Given the description of an element on the screen output the (x, y) to click on. 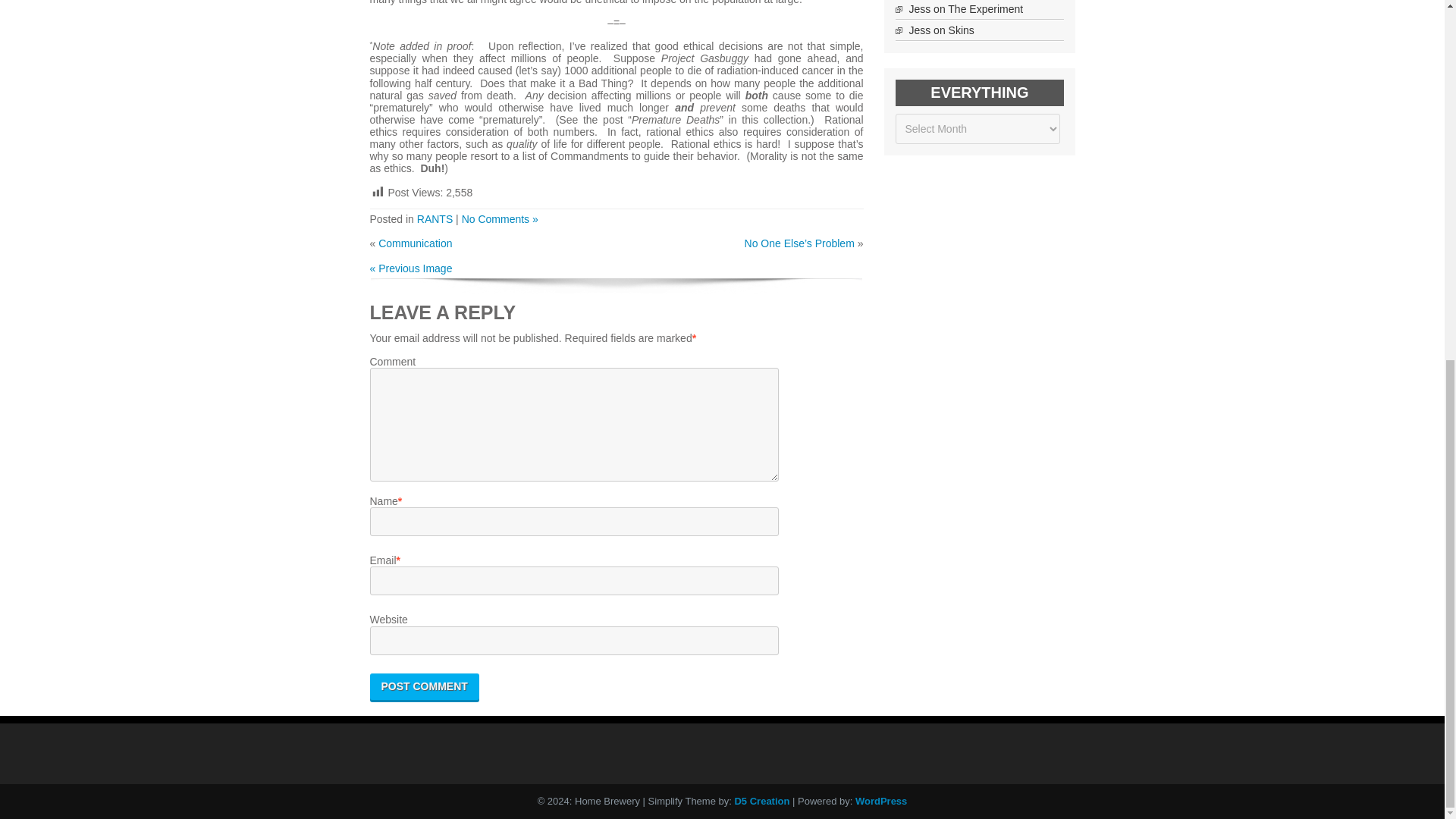
Jess (919, 30)
RANTS (434, 218)
Post Comment (424, 686)
WordPress (881, 800)
Jess (919, 9)
Communication (414, 243)
Post Comment (424, 686)
Skins (961, 30)
D5 Creation (761, 800)
The Experiment (985, 9)
